Given the description of an element on the screen output the (x, y) to click on. 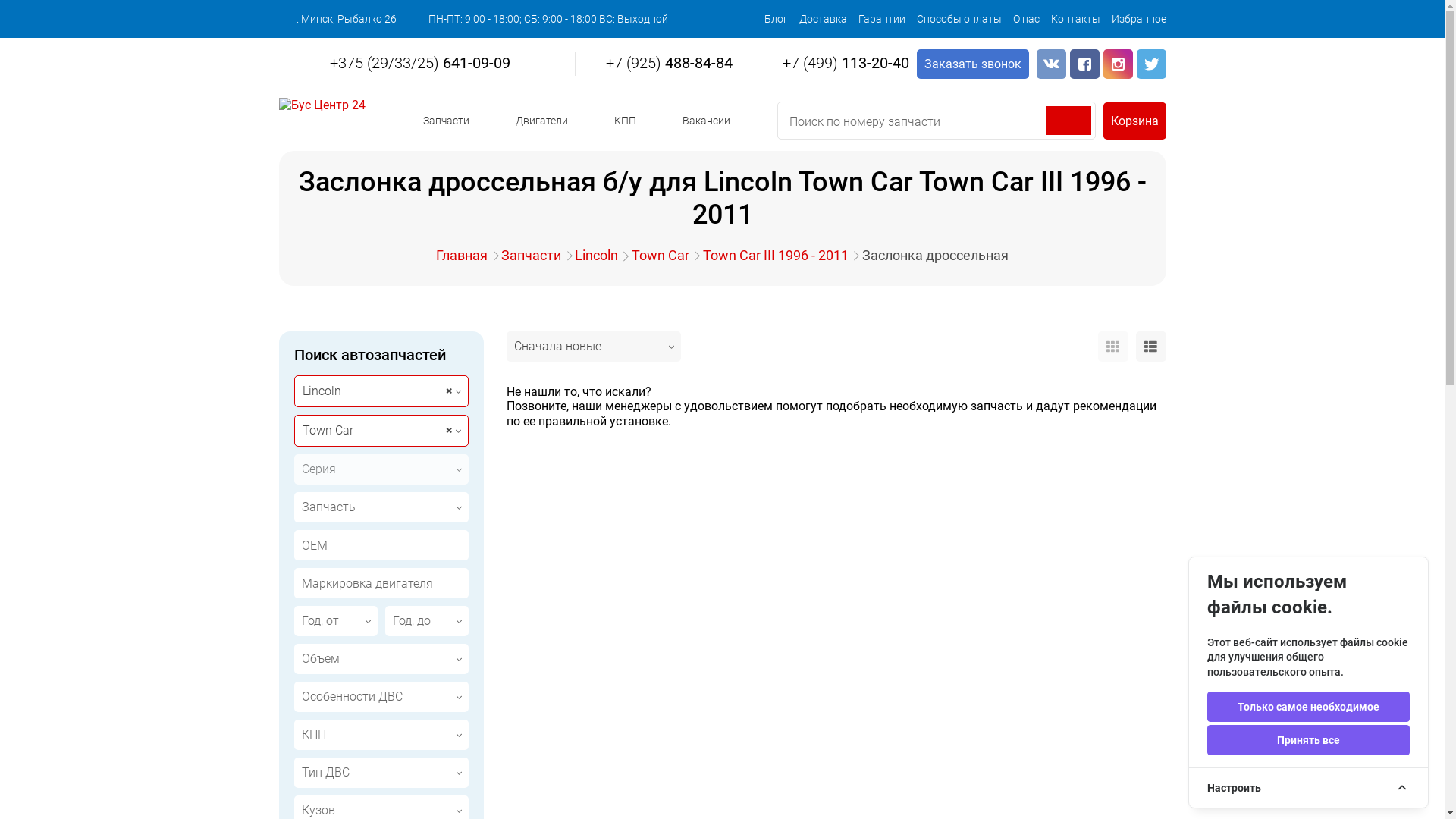
+7 (925) 488-84-84 Element type: text (659, 62)
Lincoln Element type: text (596, 255)
+375 (29/33/25) 641-09-09 Element type: text (410, 62)
+7 (499) 113-20-40 Element type: text (835, 62)
Town Car III 1996 - 2011 Element type: text (775, 255)
Town Car Element type: text (660, 255)
